Given the description of an element on the screen output the (x, y) to click on. 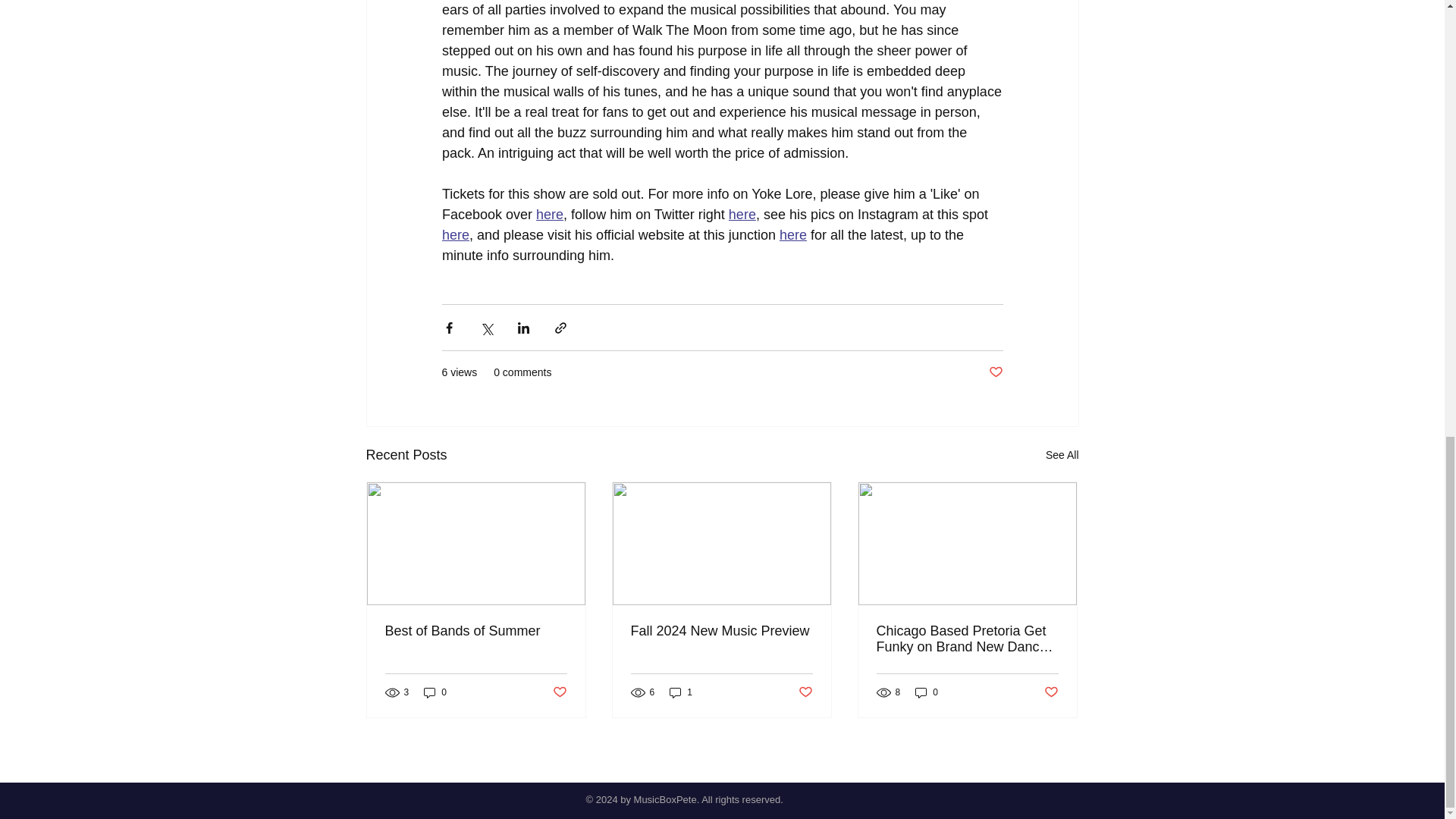
here (549, 214)
Best of Bands of Summer (476, 631)
See All (1061, 455)
Post not marked as liked (995, 372)
here (741, 214)
here (454, 234)
Fall 2024 New Music Preview (721, 631)
here (792, 234)
0 (435, 692)
Post not marked as liked (1050, 692)
